Given the description of an element on the screen output the (x, y) to click on. 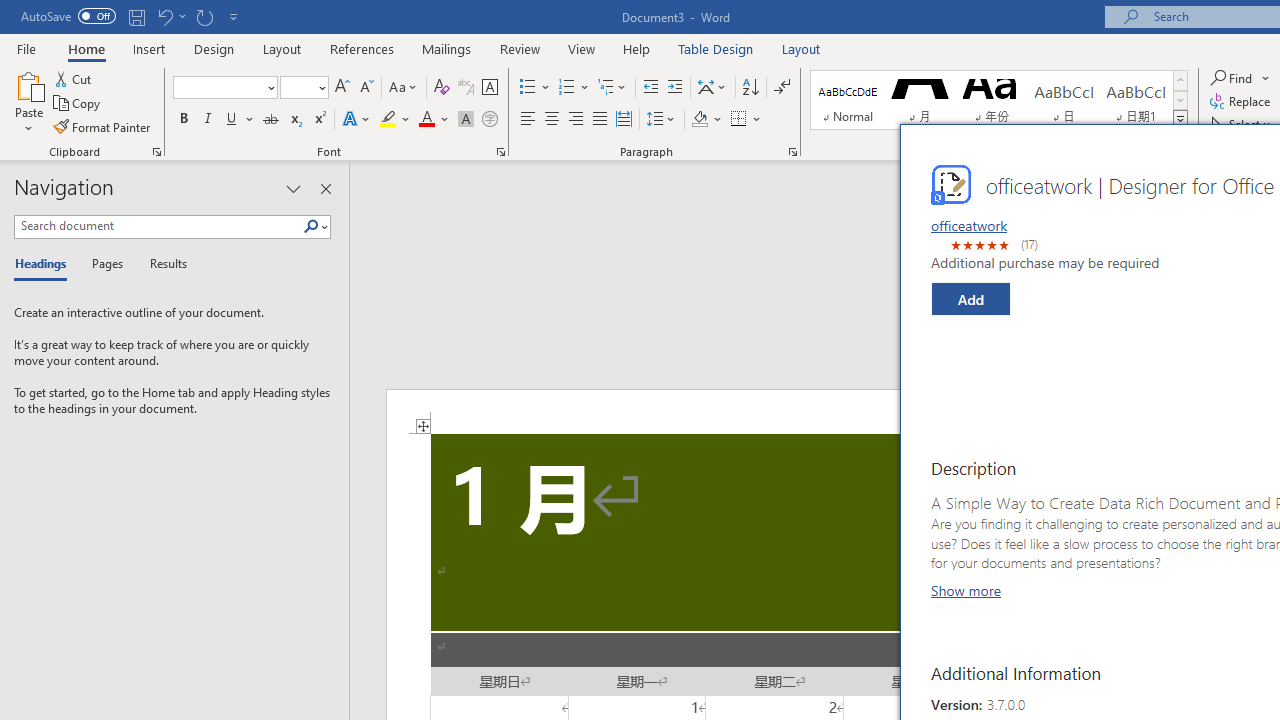
Add officeatwork | Designer for Office (970, 299)
